Given the description of an element on the screen output the (x, y) to click on. 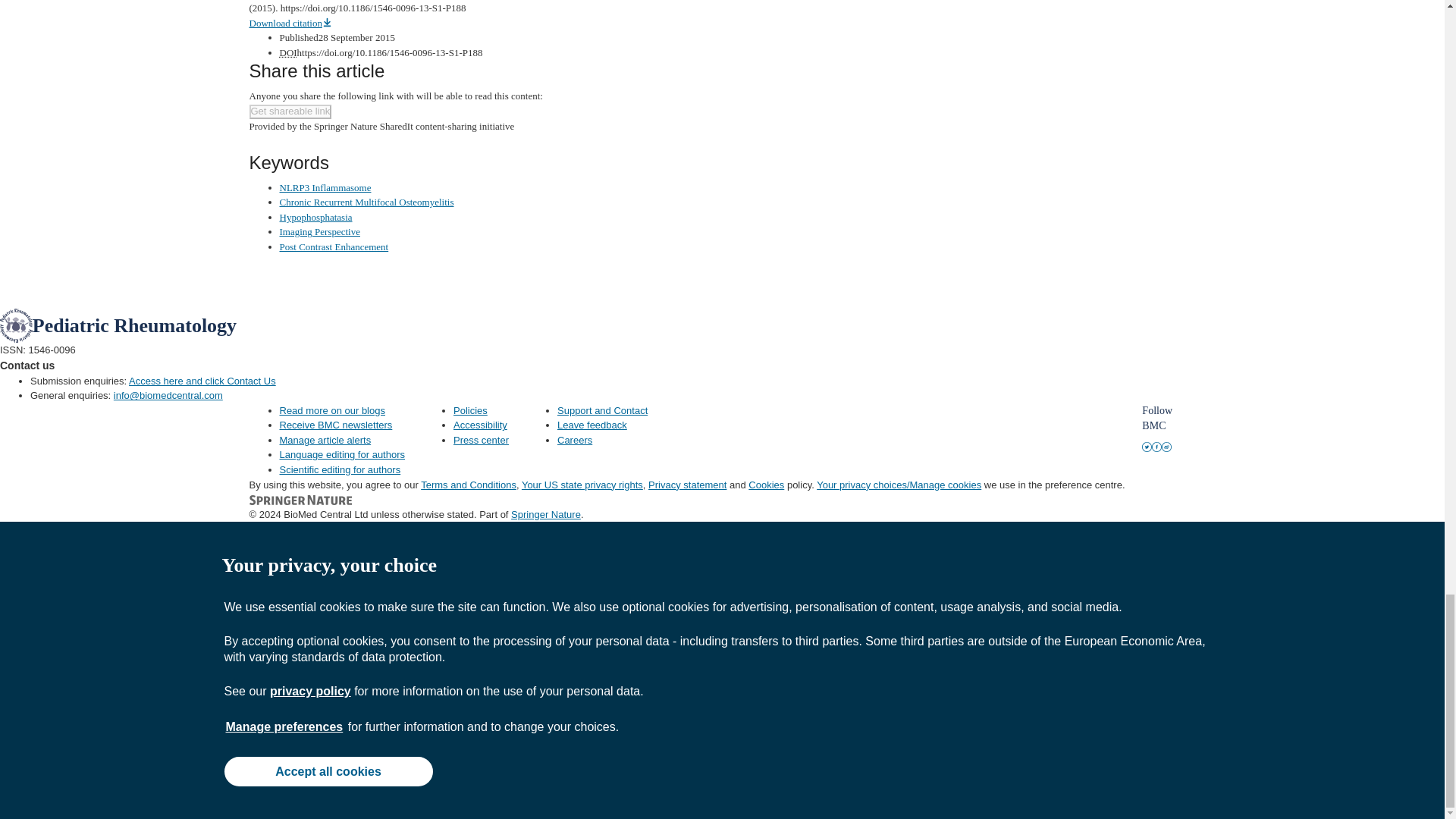
Digital Object Identifier (288, 52)
